Given the description of an element on the screen output the (x, y) to click on. 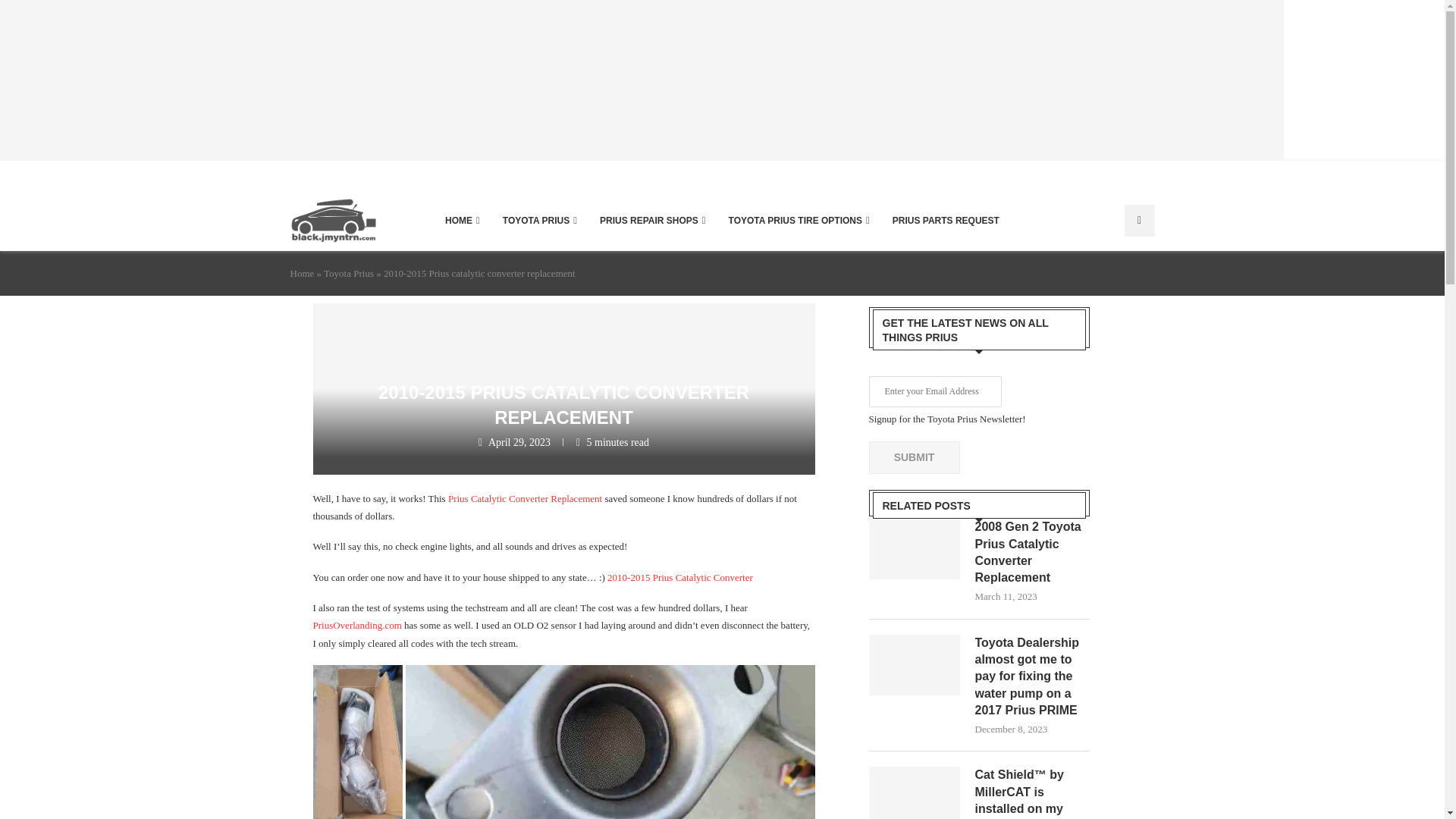
All I can say is, once I get the SIMSCAN... (80, 80)
2008 Gen 2 Toyota Prius Catalytic Converter Replacement (914, 548)
2008 Gen 2 Toyota Prius Catalytic Converter Replacement (1032, 552)
If this Reel is posted, that means my home-built social... (400, 80)
When the tallest Gen 3 Prius in America pulls up,... (1043, 80)
